Given the description of an element on the screen output the (x, y) to click on. 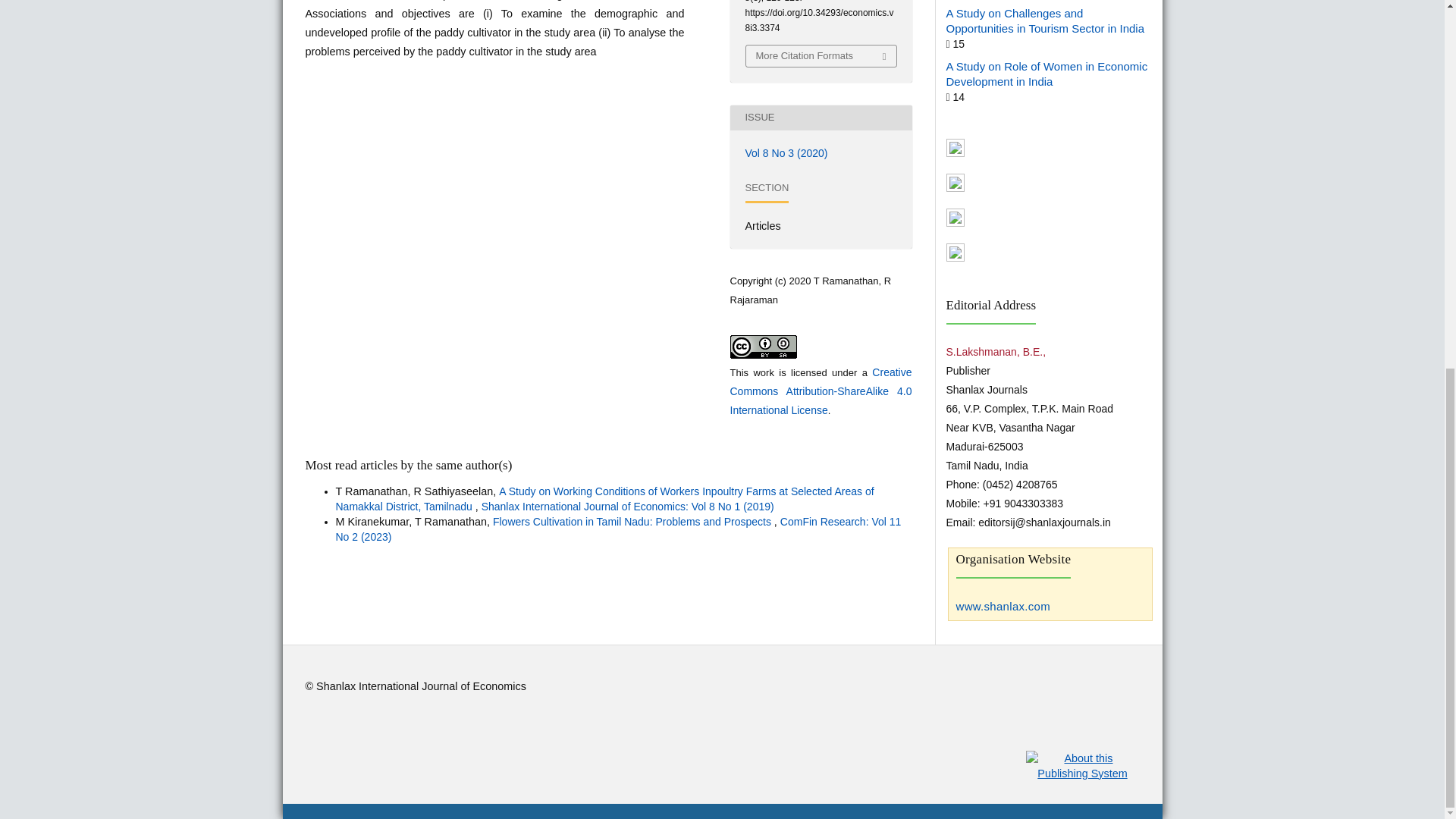
More Citation Formats (820, 55)
